Given the description of an element on the screen output the (x, y) to click on. 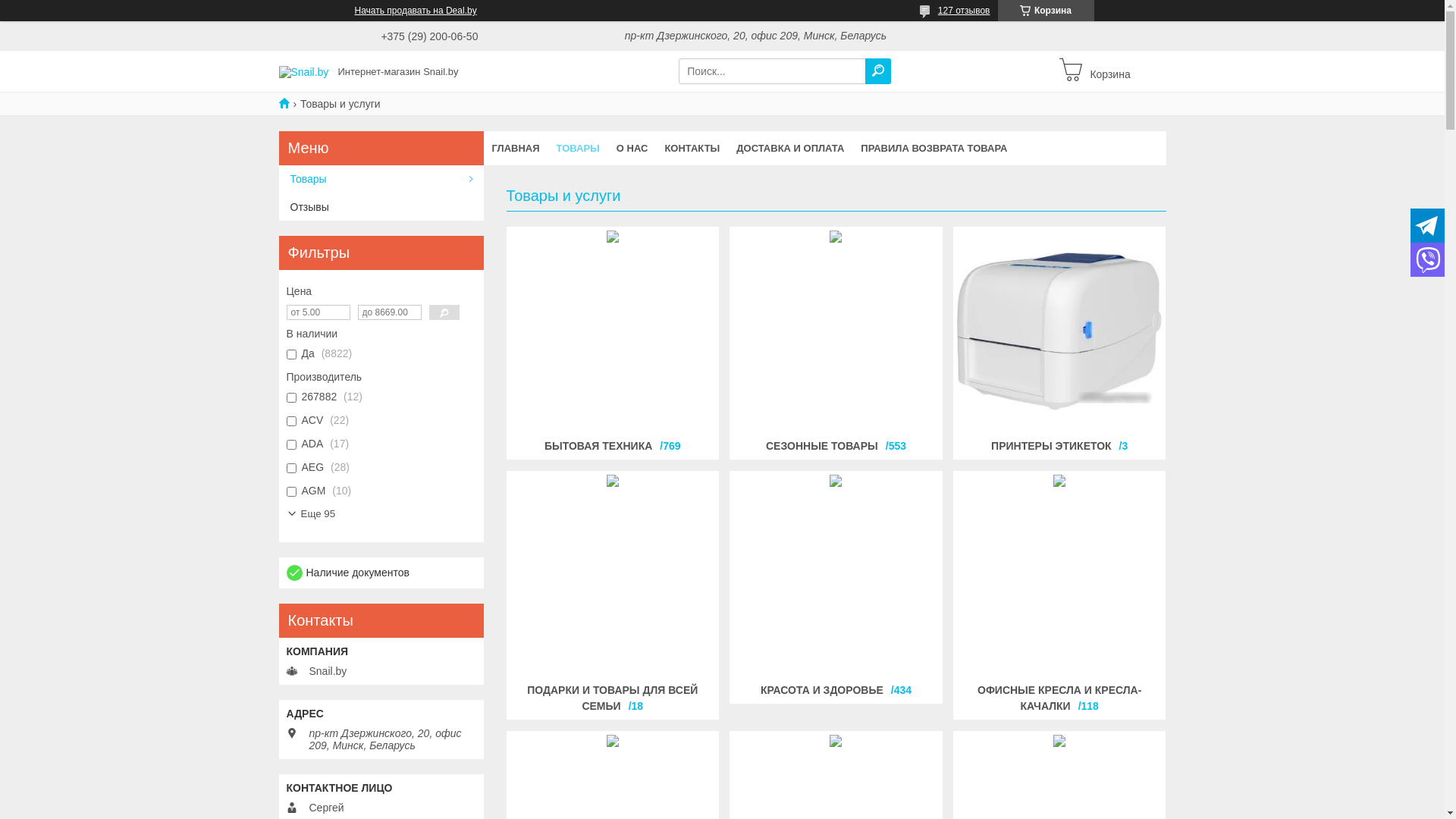
Snail.by Element type: hover (304, 71)
Snail.by Element type: hover (289, 102)
